Given the description of an element on the screen output the (x, y) to click on. 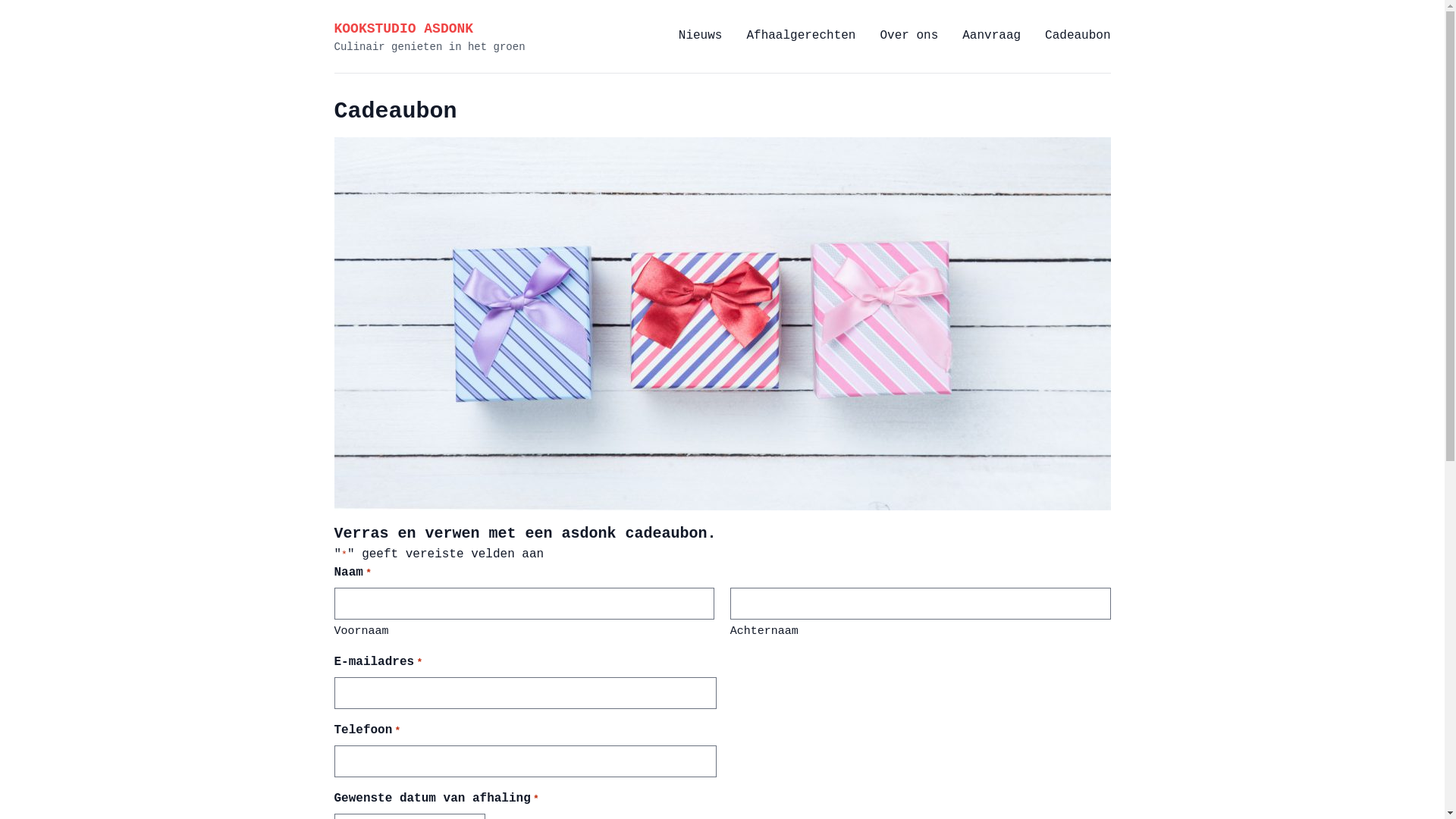
Cadeaubon Element type: text (1077, 35)
Aanvraag Element type: text (991, 35)
Nieuws Element type: text (700, 35)
KOOKSTUDIO ASDONK Element type: text (403, 28)
Over ons Element type: text (908, 35)
Afhaalgerechten Element type: text (800, 35)
Cadeaubon Element type: text (394, 111)
